Given the description of an element on the screen output the (x, y) to click on. 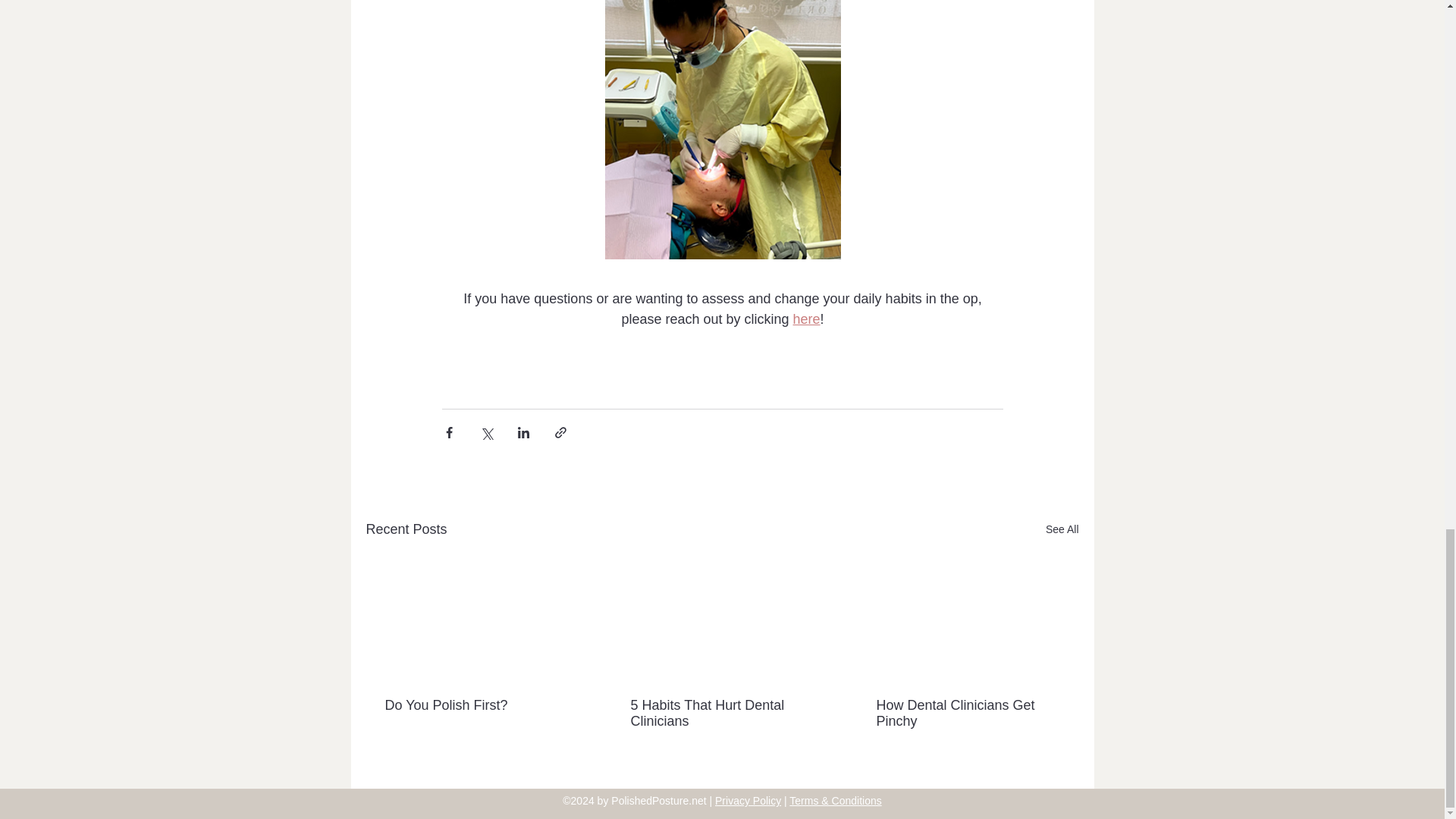
here (805, 319)
See All (1061, 529)
5 Habits That Hurt Dental Clinicians (721, 713)
Do You Polish First? (476, 705)
